Given the description of an element on the screen output the (x, y) to click on. 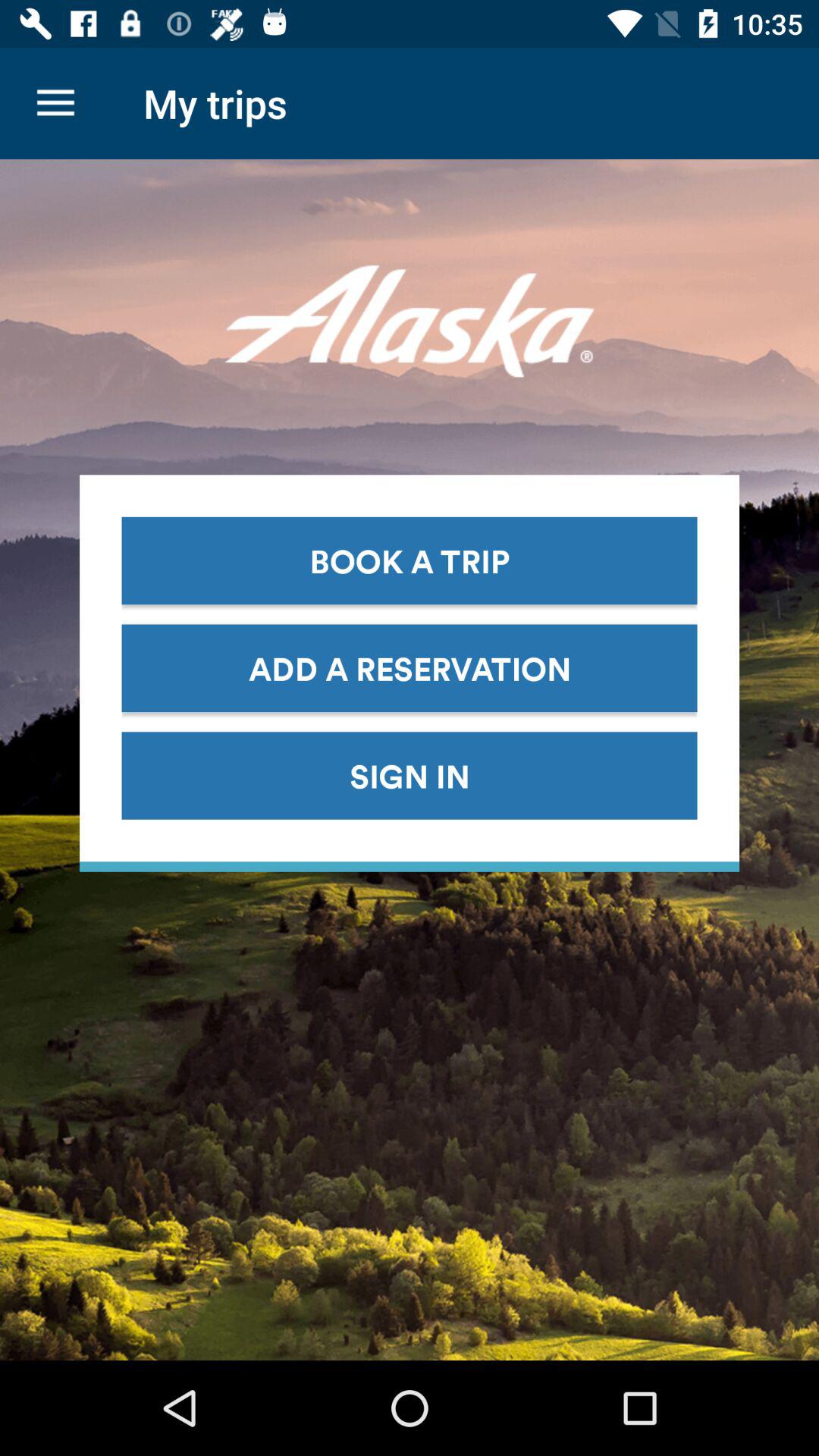
turn on icon next to the my trips icon (55, 103)
